Given the description of an element on the screen output the (x, y) to click on. 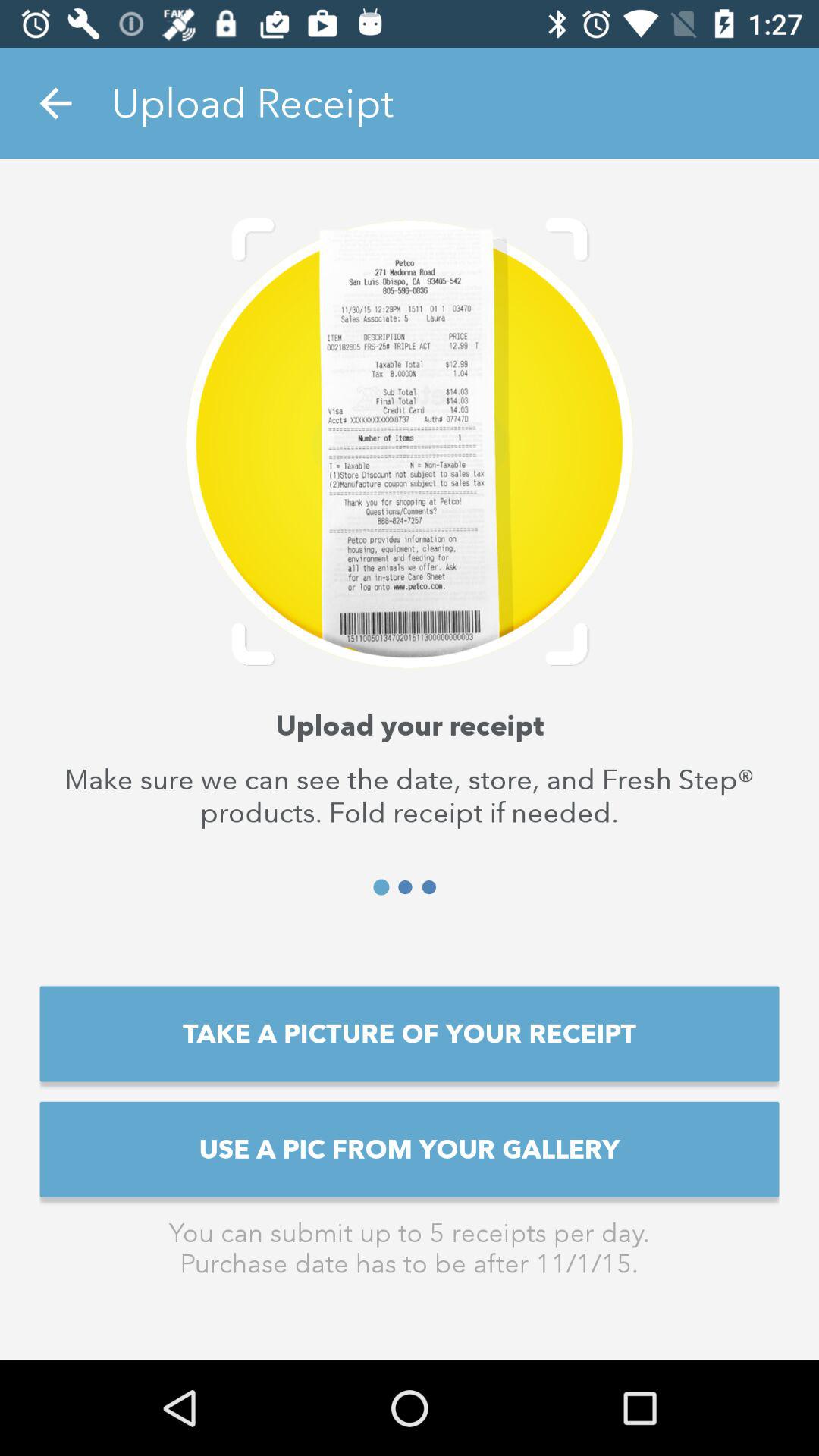
scroll until use a pic item (409, 1149)
